Given the description of an element on the screen output the (x, y) to click on. 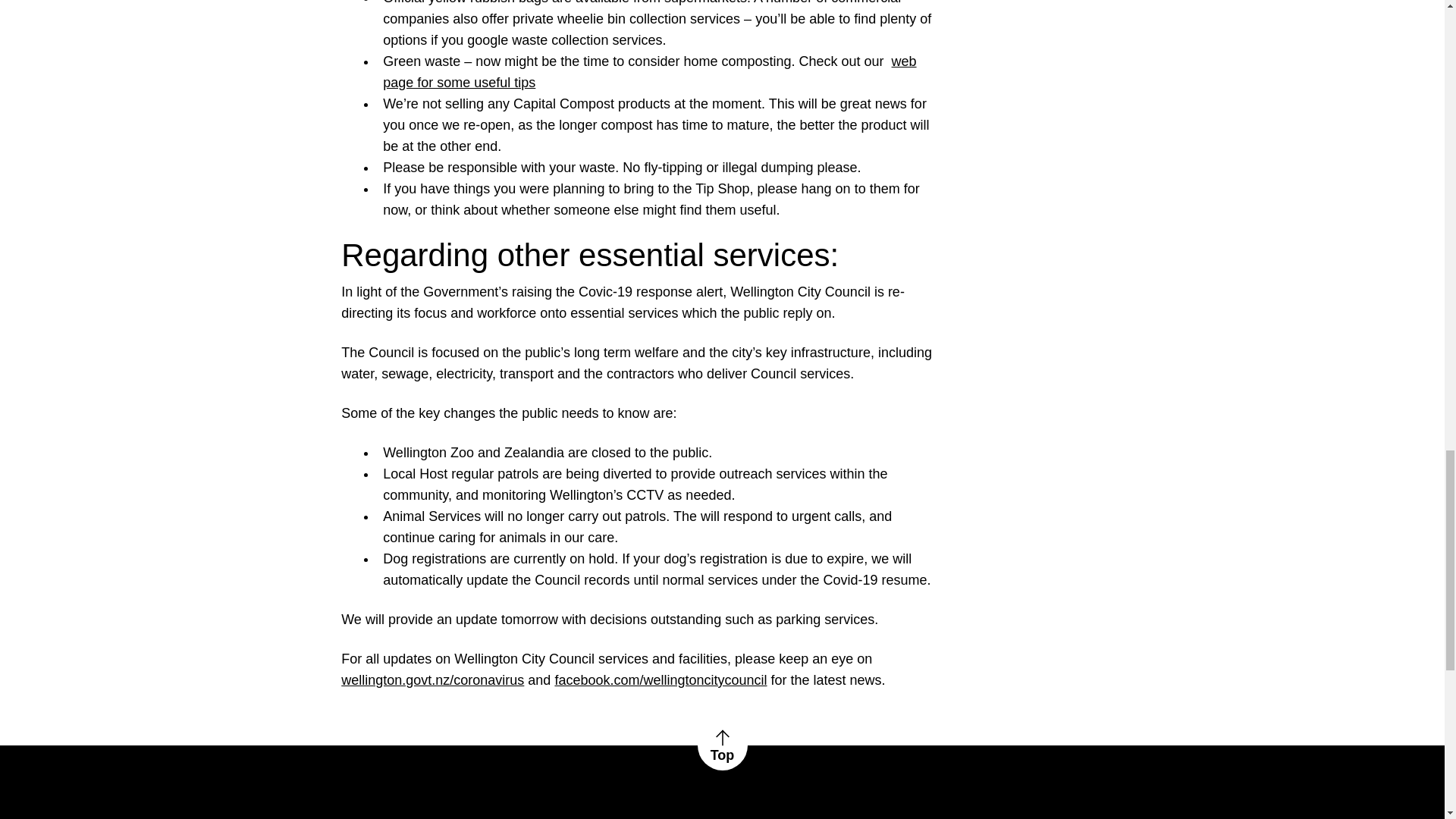
Top (722, 745)
web page for some useful tips (648, 72)
